Given the description of an element on the screen output the (x, y) to click on. 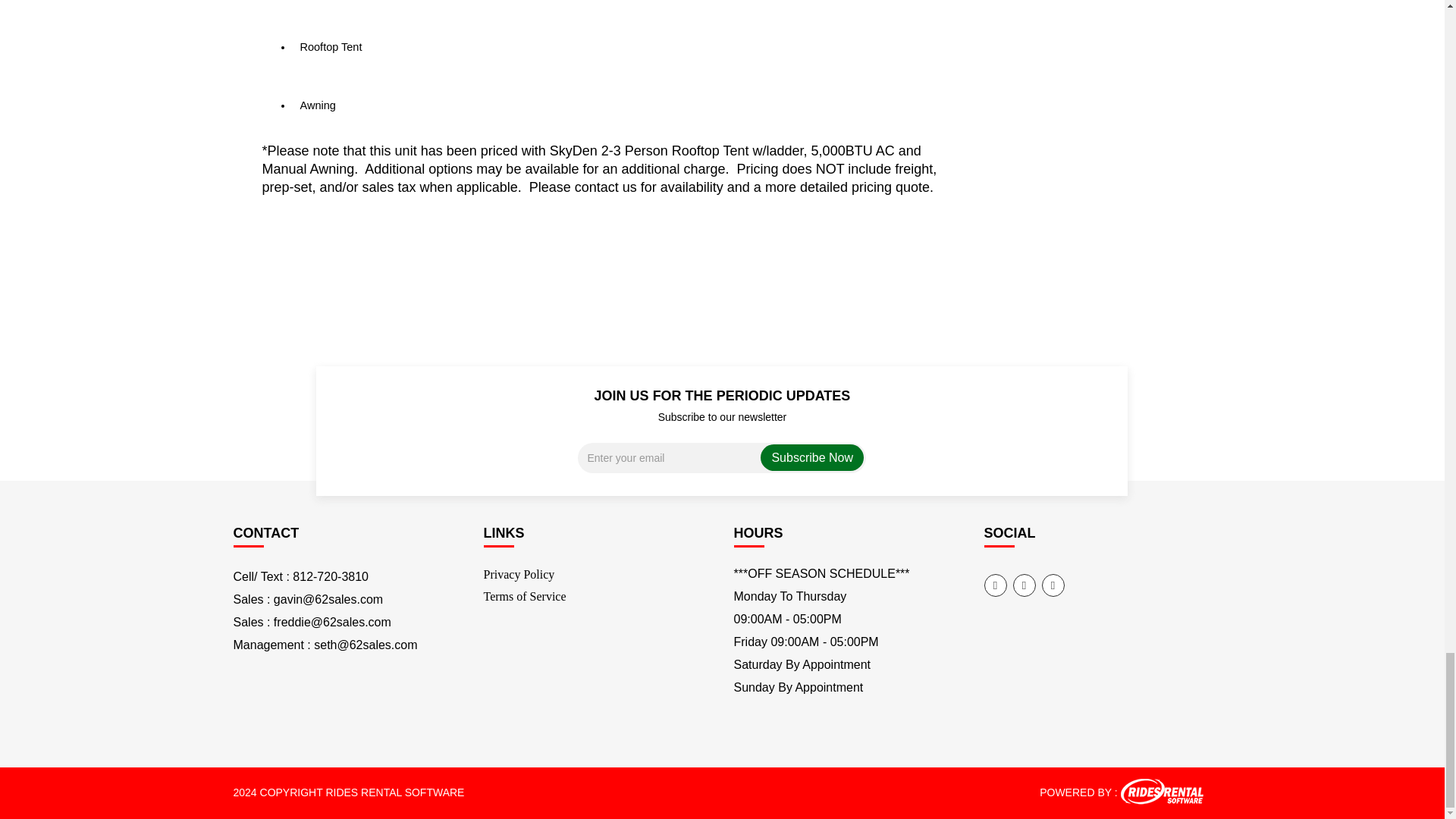
 Subscribe Now  (812, 457)
